Given the description of an element on the screen output the (x, y) to click on. 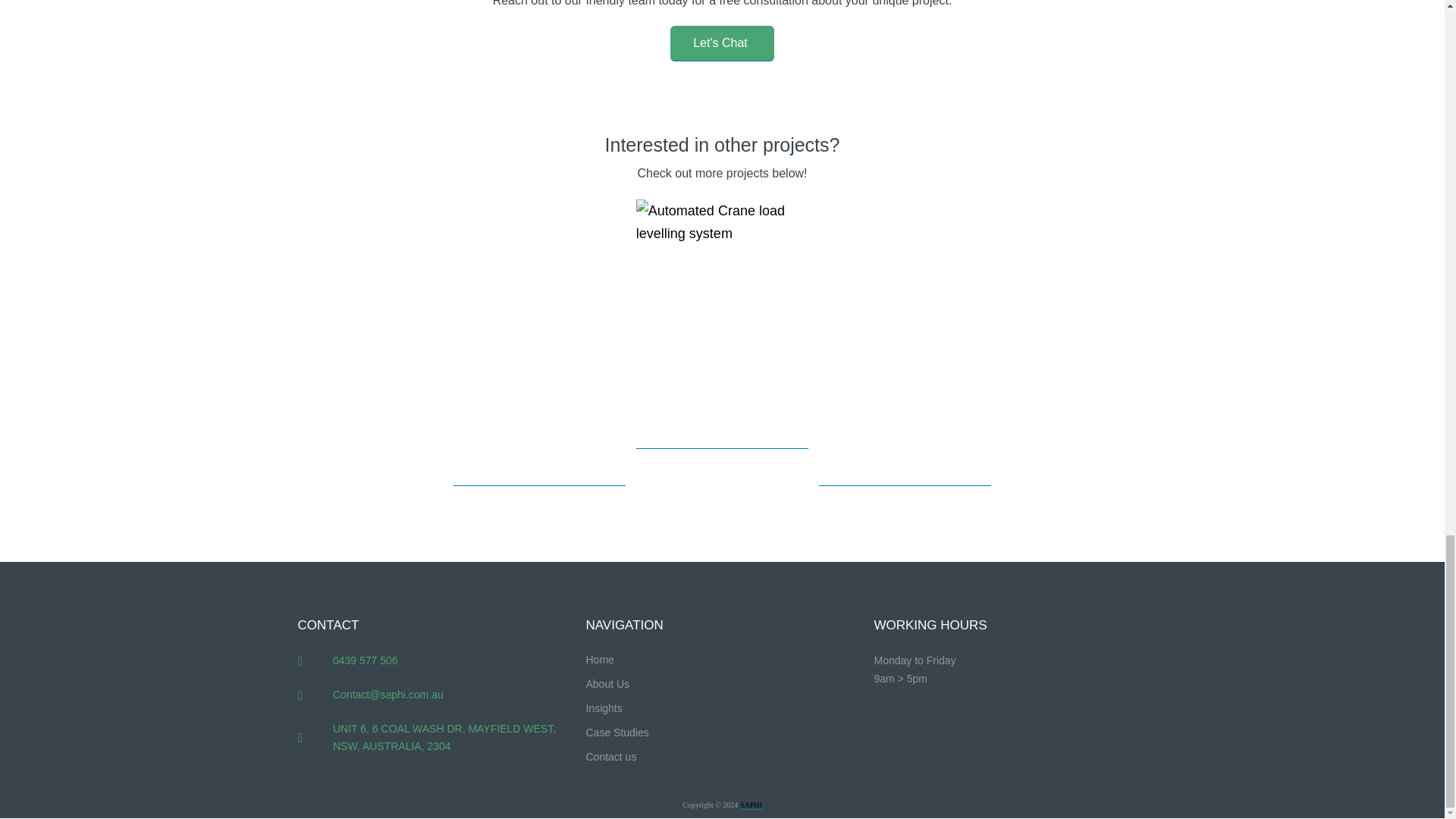
Home (722, 659)
Let'S Chat (721, 43)
About Us (722, 684)
